Given the description of an element on the screen output the (x, y) to click on. 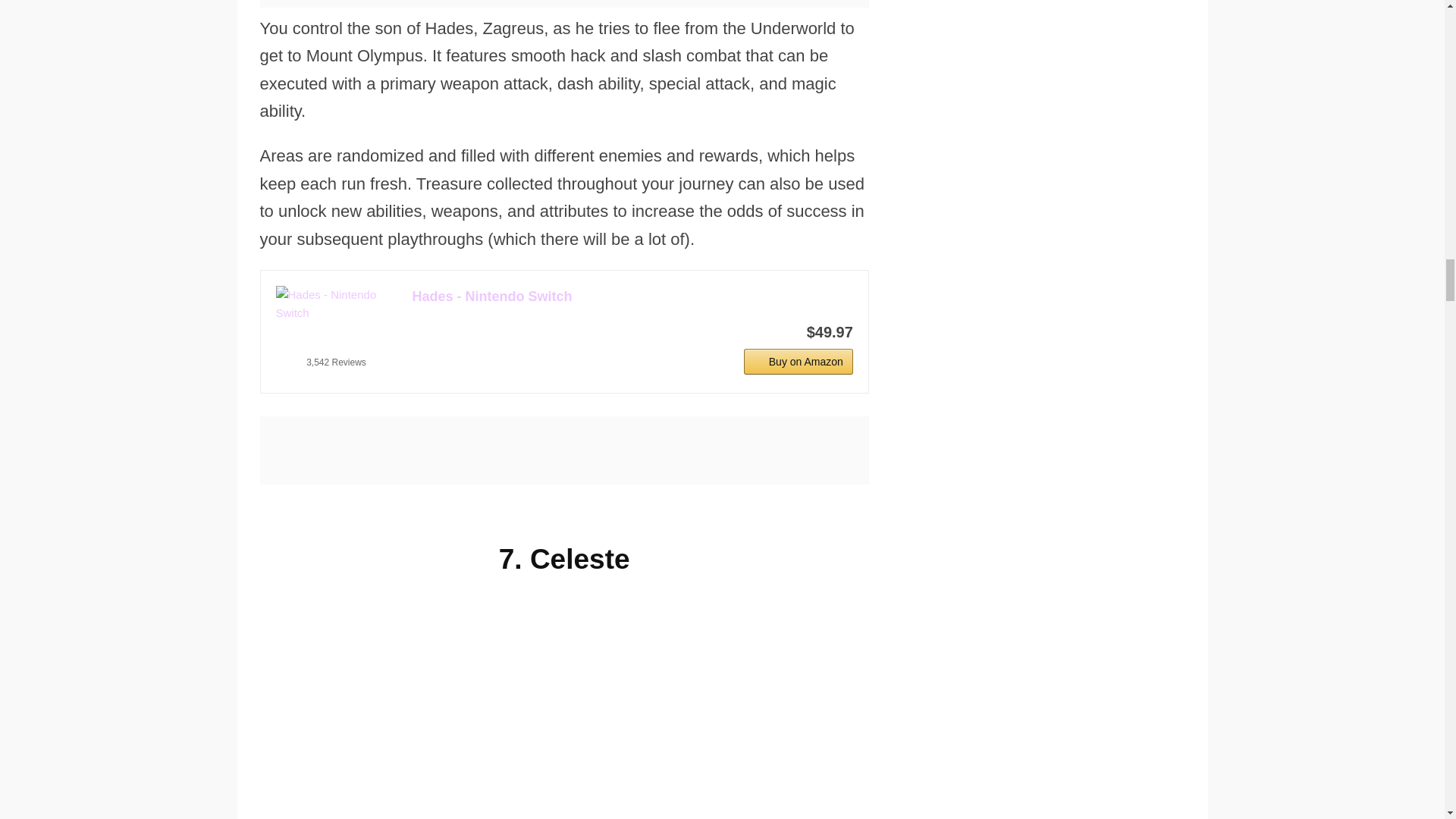
Buy on Amazon (798, 361)
Hades - Nintendo Switch (336, 303)
Hades - Nintendo Switch (632, 296)
Reviews on Amazon (336, 343)
